Given the description of an element on the screen output the (x, y) to click on. 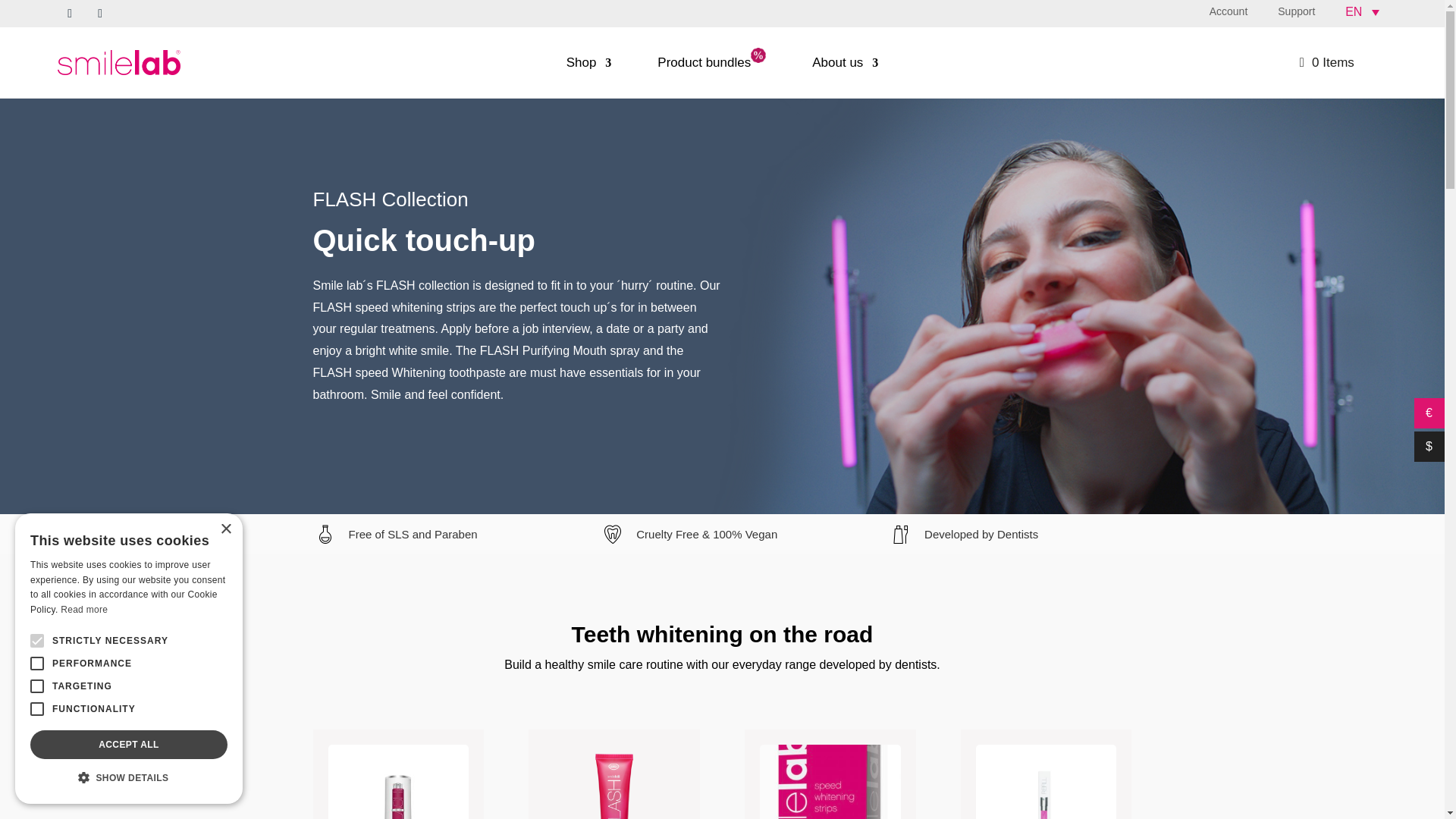
Support (1296, 10)
EN (1356, 11)
Follow on Instagram (99, 13)
Account (1228, 10)
0 Items (1327, 61)
About us (844, 62)
Follow on Facebook (69, 13)
Shop (588, 62)
Product bundles (711, 62)
